Given the description of an element on the screen output the (x, y) to click on. 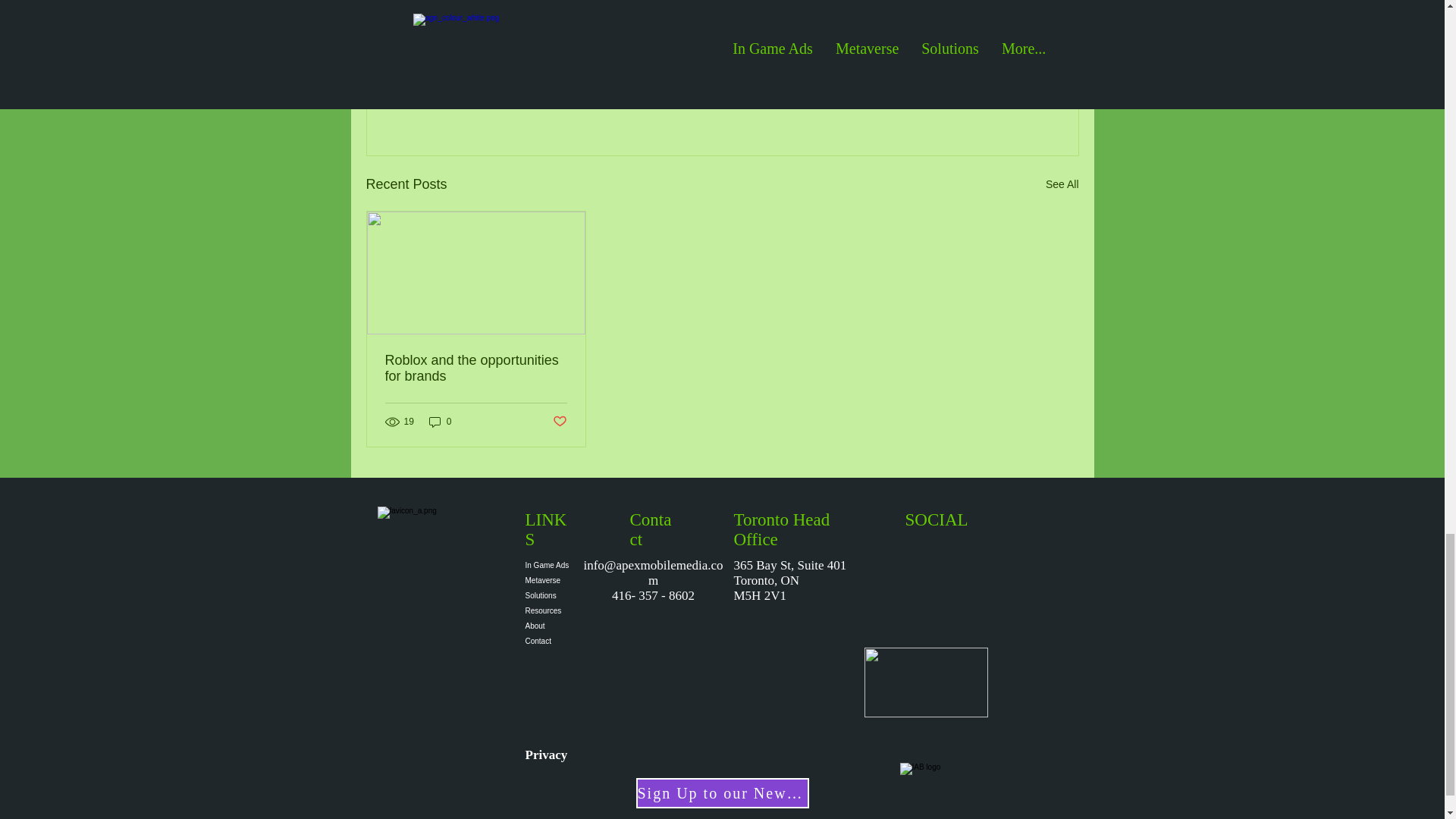
Post not marked as liked (558, 421)
In Game Ads (548, 565)
See All (1061, 184)
Metaverse (548, 580)
Roblox and the opportunities for brands (476, 368)
Post not marked as liked (995, 101)
0 (440, 421)
